Given the description of an element on the screen output the (x, y) to click on. 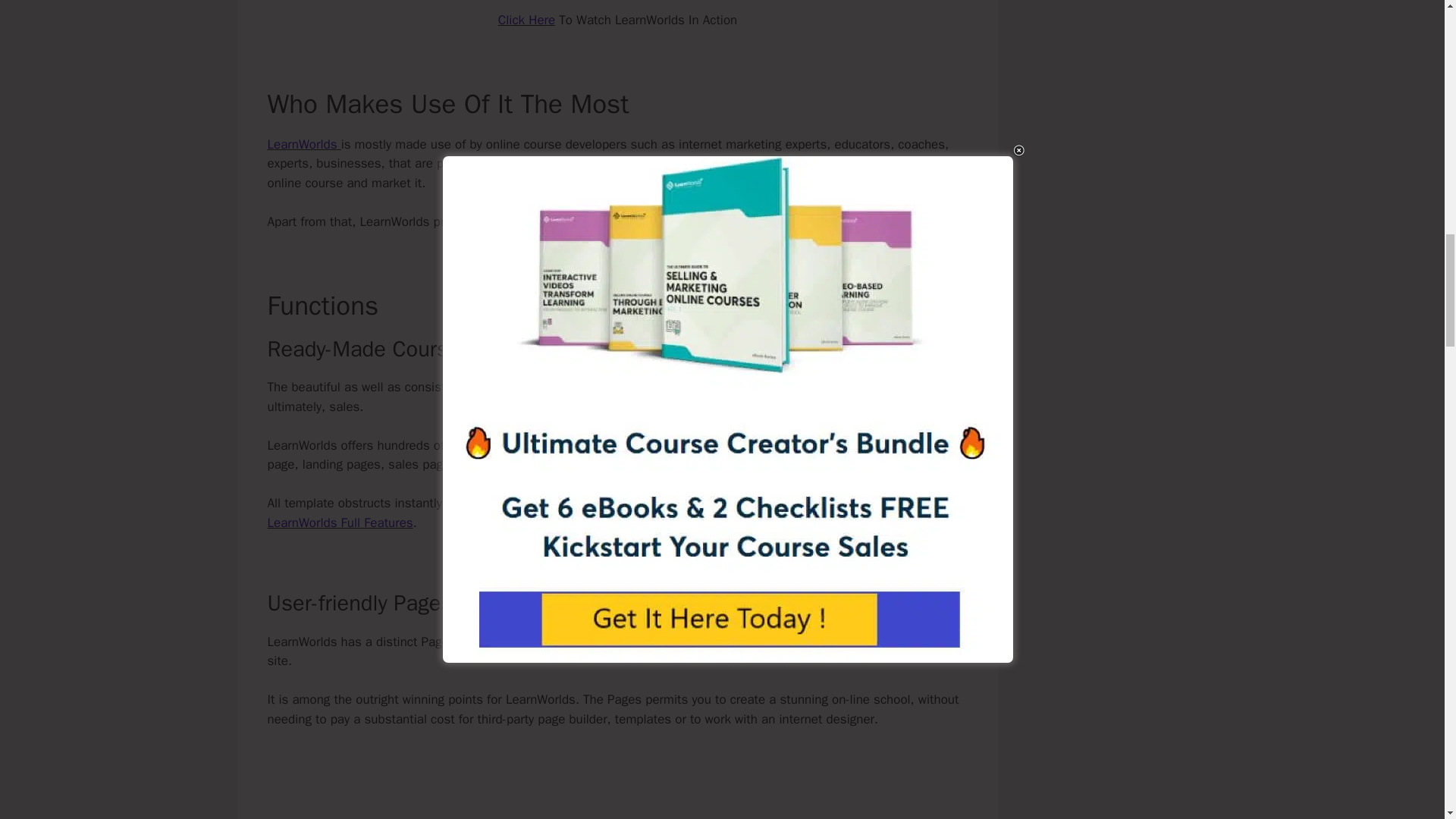
resources to help sell and market your online courses (628, 221)
Click here for Demo On LearnWorlds Full Features (607, 512)
Click Here (525, 19)
LearnWorlds (301, 144)
